Given the description of an element on the screen output the (x, y) to click on. 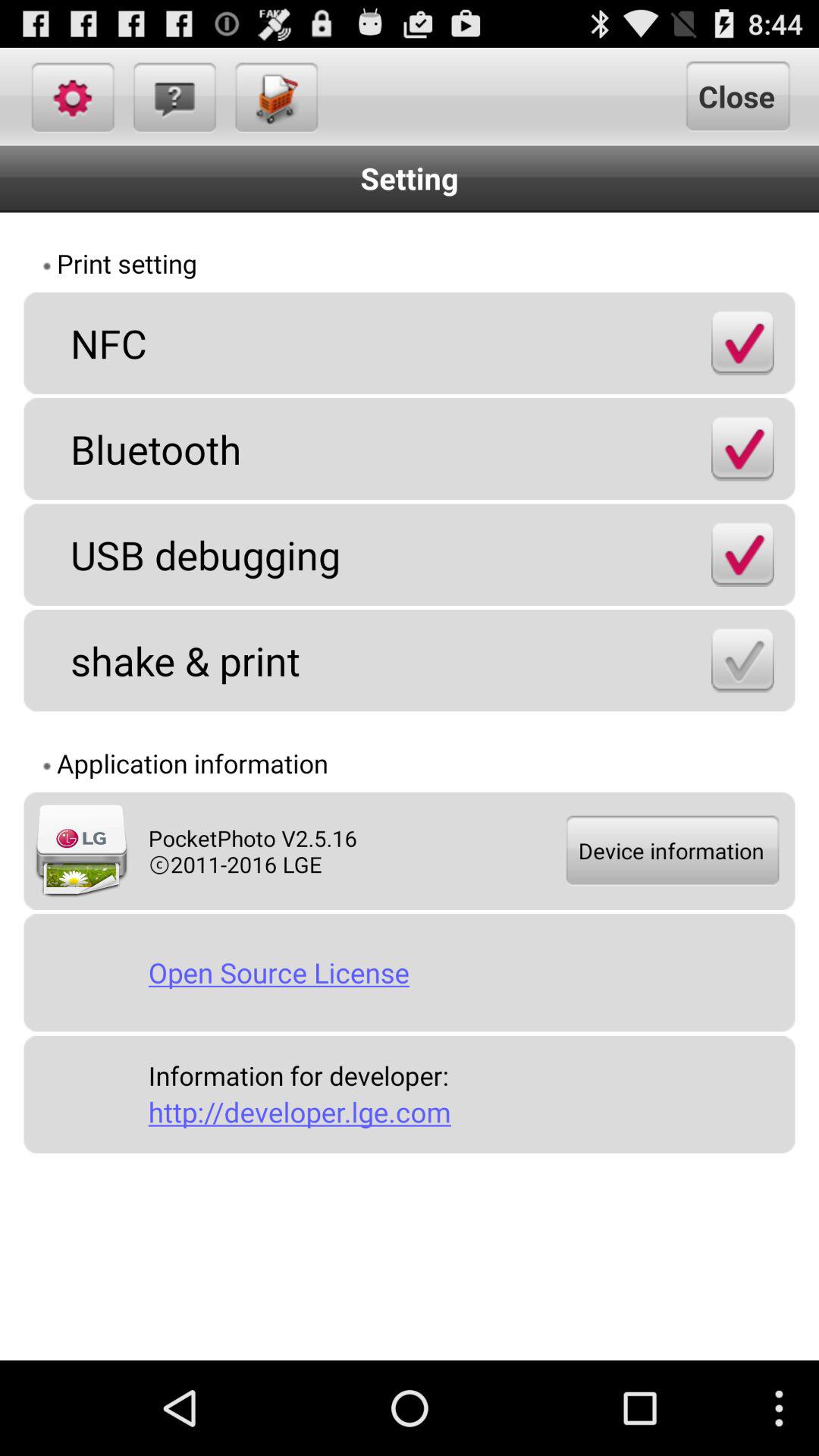
scroll until close (736, 96)
